Given the description of an element on the screen output the (x, y) to click on. 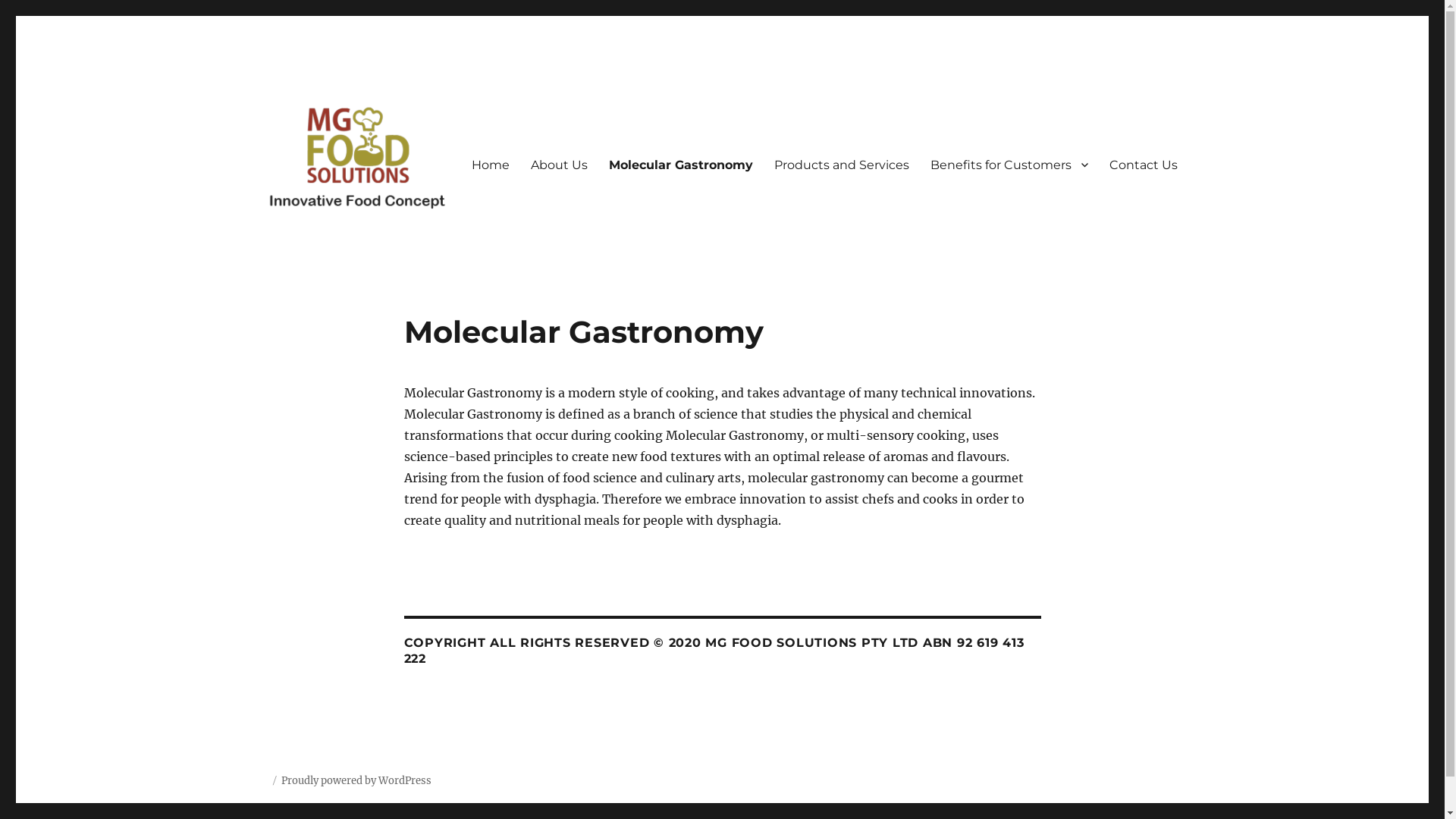
Home Element type: text (490, 164)
About Us Element type: text (559, 164)
Benefits for Customers Element type: text (1008, 164)
Contact Us Element type: text (1142, 164)
Molecular Gastronomy Element type: text (679, 164)
Products and Services Element type: text (840, 164)
Proudly powered by WordPress Element type: text (355, 780)
